Given the description of an element on the screen output the (x, y) to click on. 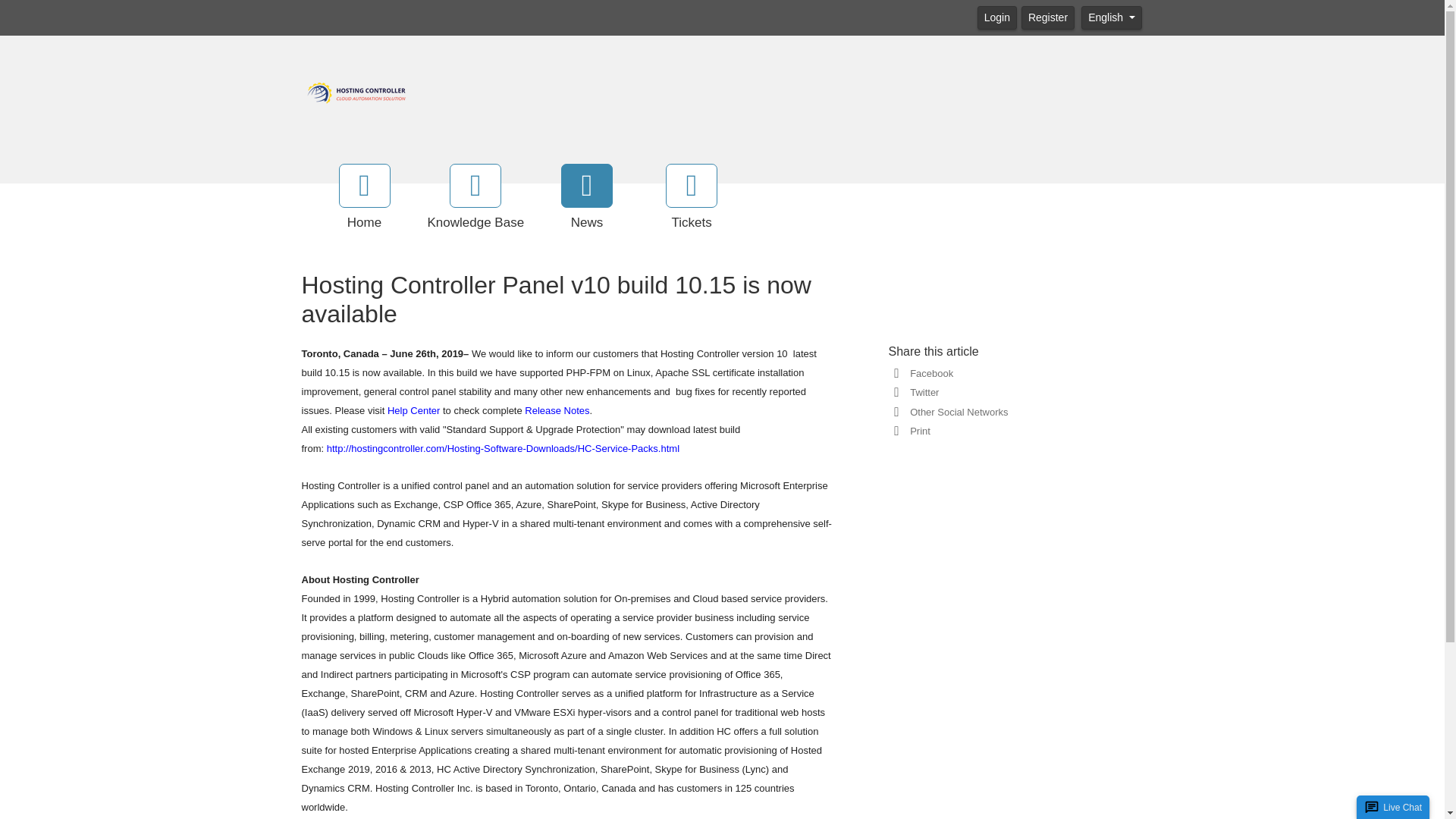
Hosting Controller (356, 90)
Facebook (928, 373)
Login (996, 17)
Live Chat (1402, 806)
Release Notes (556, 410)
Register (1048, 17)
English (1111, 17)
Live Chat (1402, 806)
Tickets (691, 197)
Knowledge Base (476, 197)
News (586, 197)
Home (364, 197)
Help Center (413, 410)
